Given the description of an element on the screen output the (x, y) to click on. 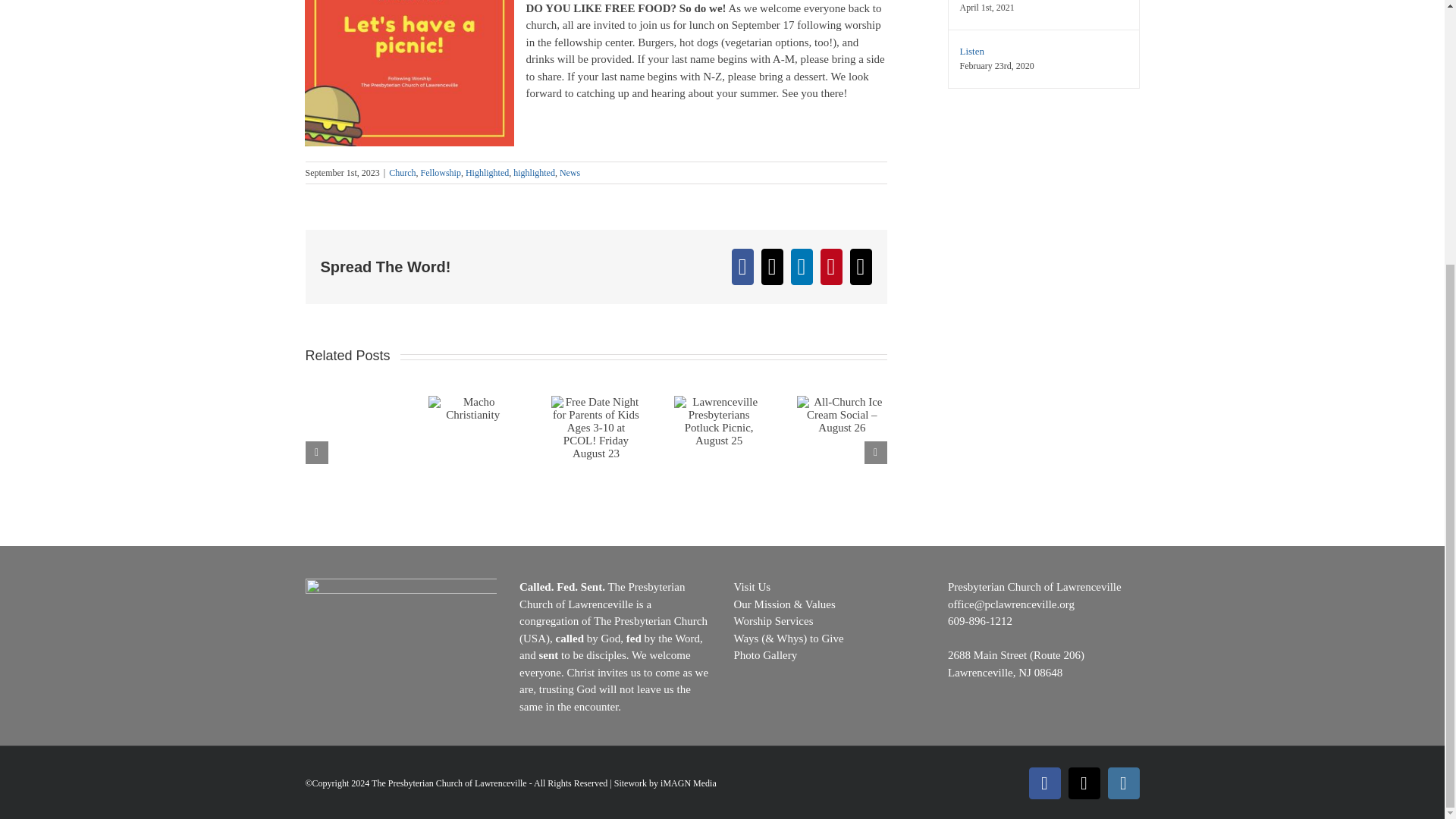
Facebook (1043, 783)
Instagram (1122, 783)
X (1083, 783)
